Given the description of an element on the screen output the (x, y) to click on. 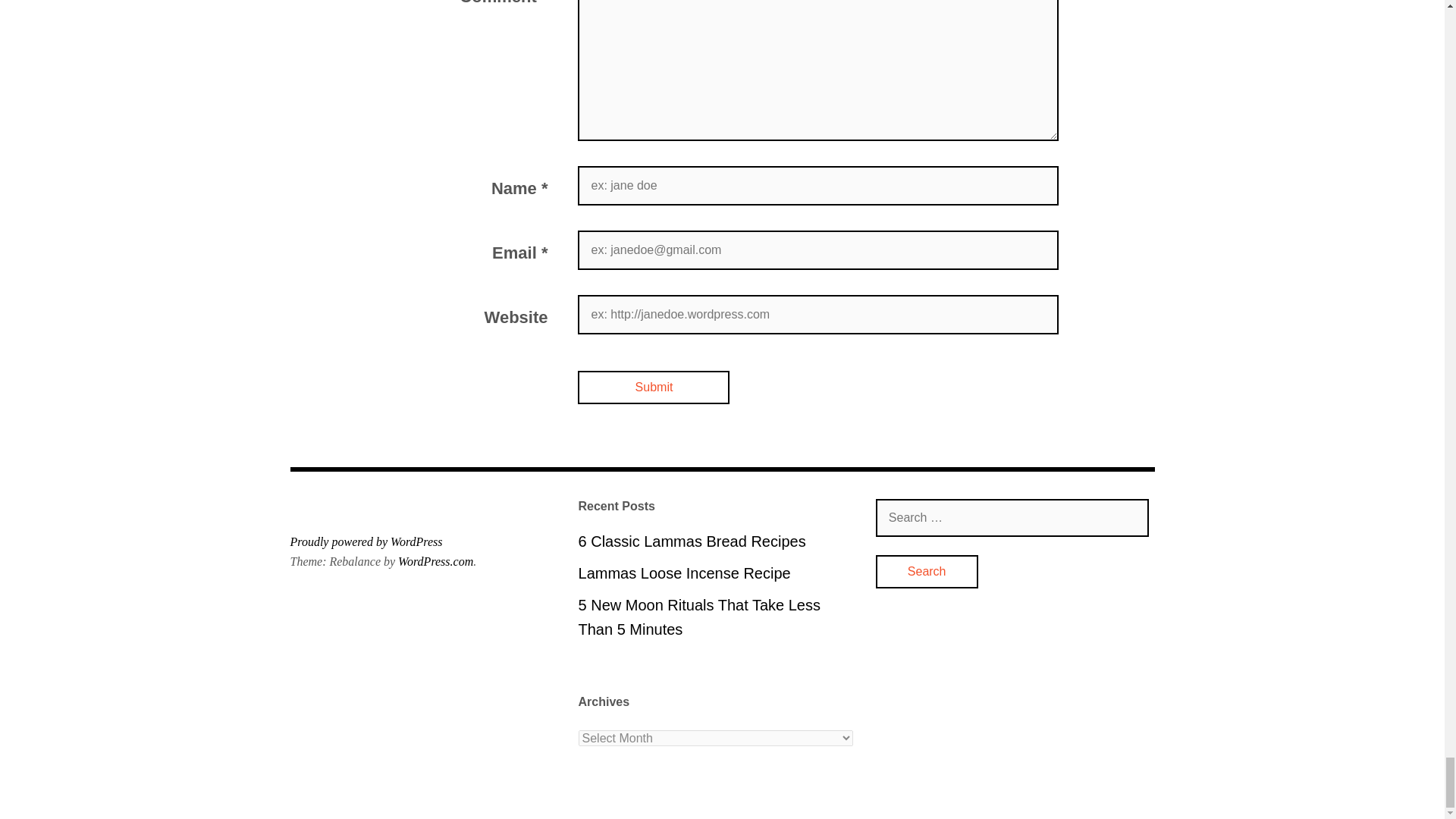
Search (927, 571)
Submit (653, 387)
Search (927, 571)
